Given the description of an element on the screen output the (x, y) to click on. 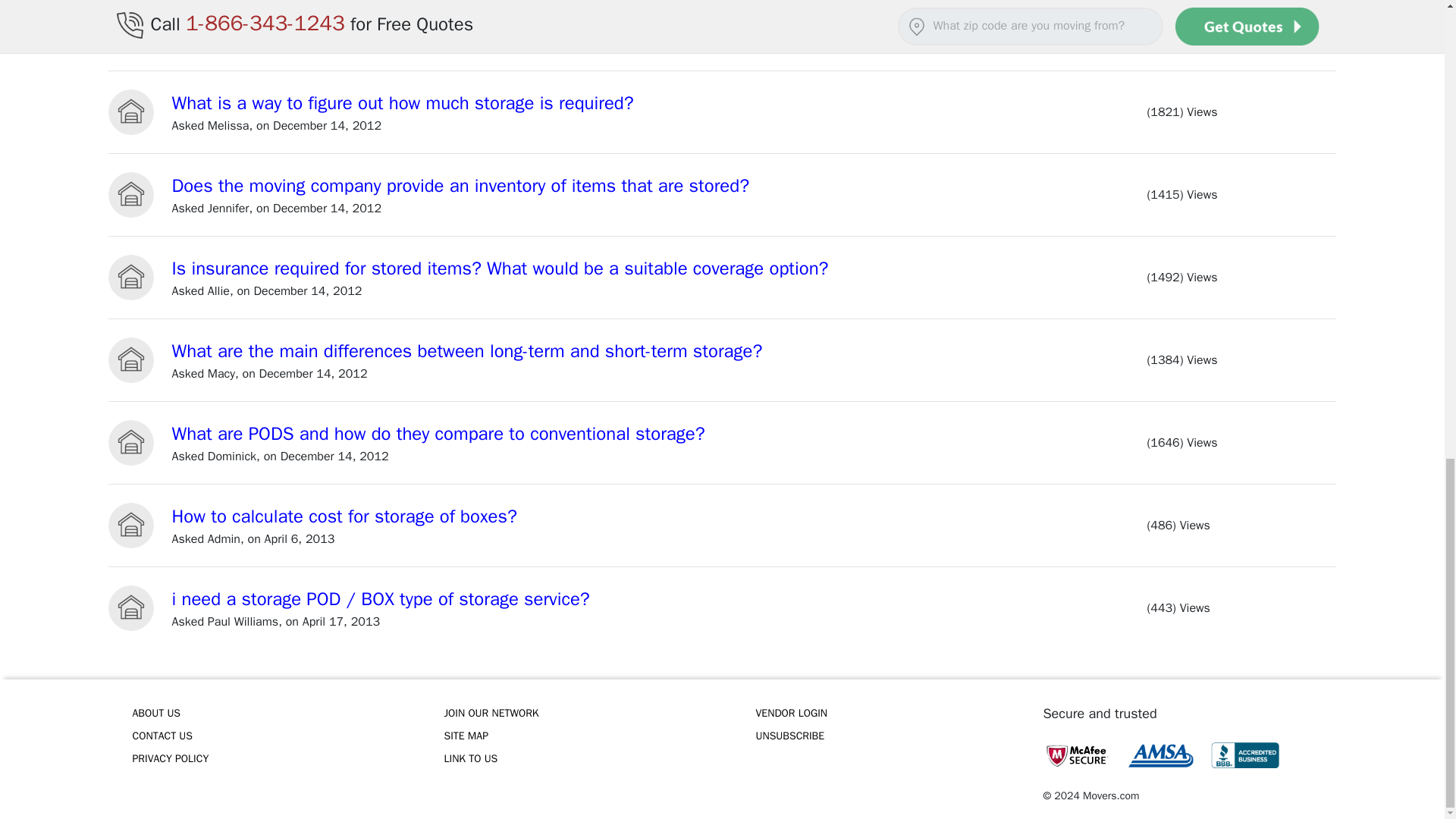
VENDOR LOGIN (890, 712)
ABOUT US (266, 712)
CONTACT US (266, 735)
LINK TO US (578, 758)
PRIVACY POLICY (266, 758)
JOIN OUR NETWORK (578, 712)
SITE MAP (578, 735)
What is a way to figure out how much storage is required? (402, 102)
